Given the description of an element on the screen output the (x, y) to click on. 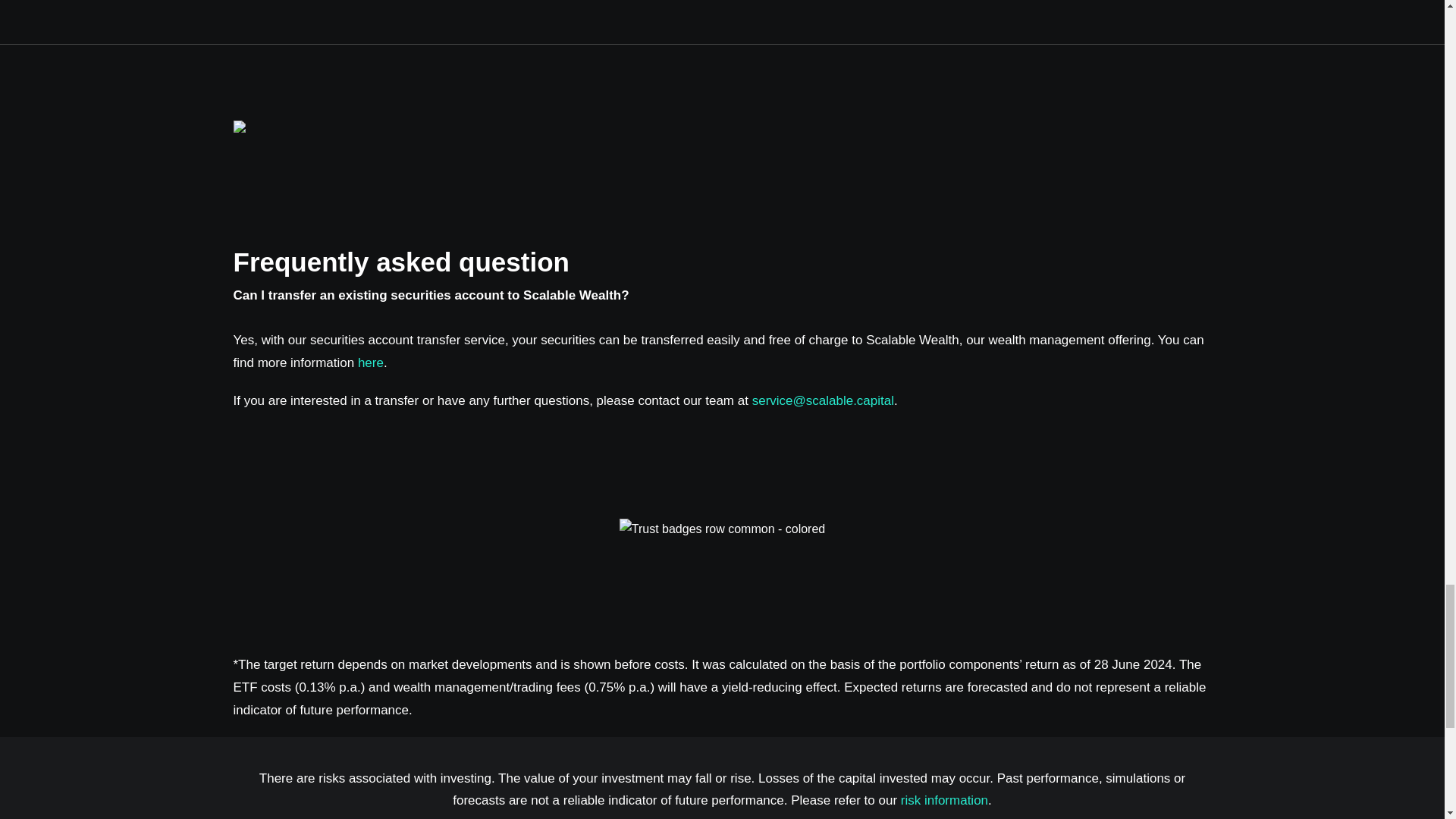
here (371, 362)
risk information (944, 800)
